Given the description of an element on the screen output the (x, y) to click on. 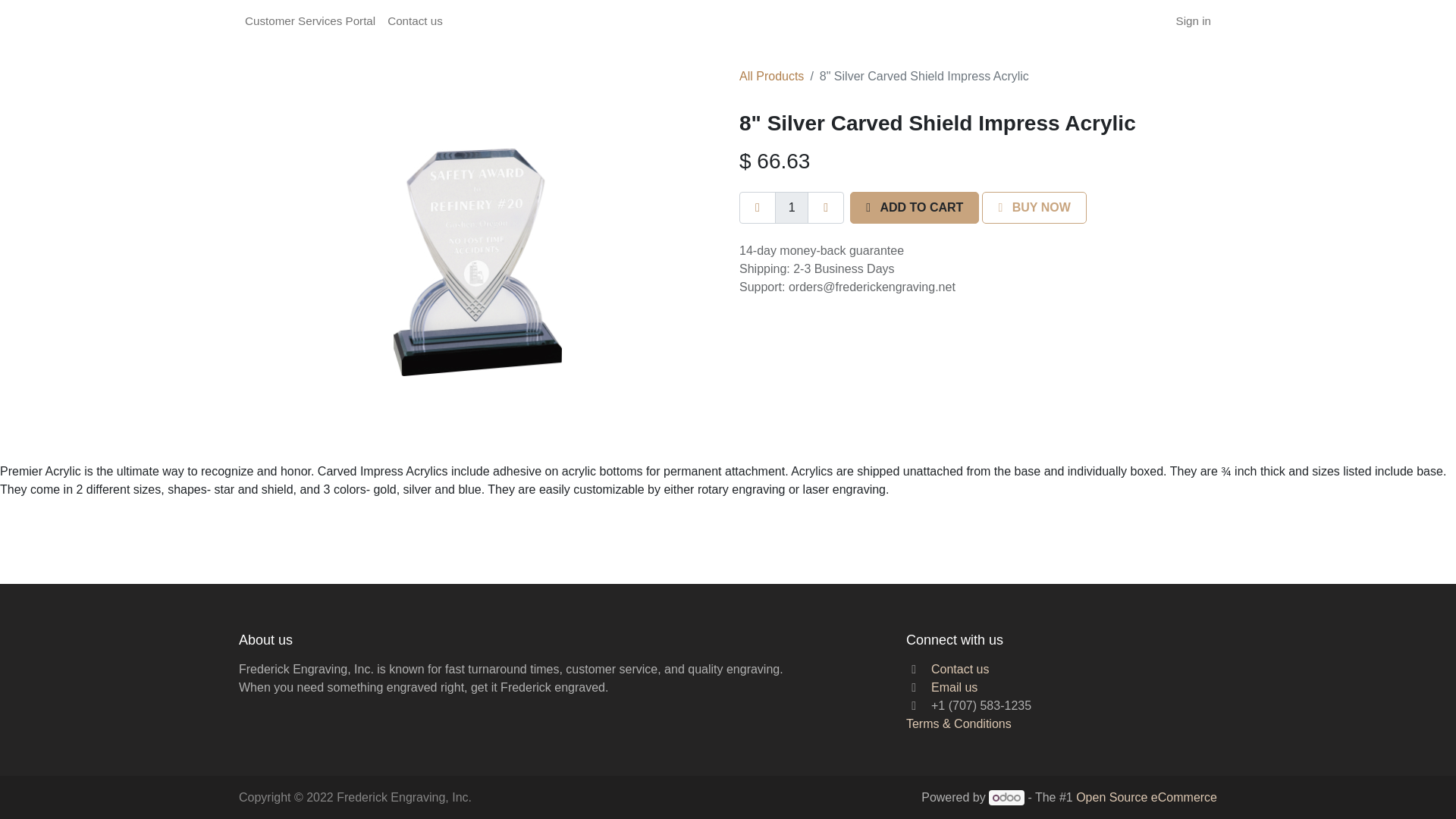
ADD TO CART (914, 207)
1 (791, 207)
Open Source eCommerce (1146, 797)
Sign in (1193, 21)
Remove one (757, 207)
Customer Services Portal (309, 21)
Add one (826, 207)
Contact us (414, 21)
All Products (771, 75)
Contact us (959, 668)
